Given the description of an element on the screen output the (x, y) to click on. 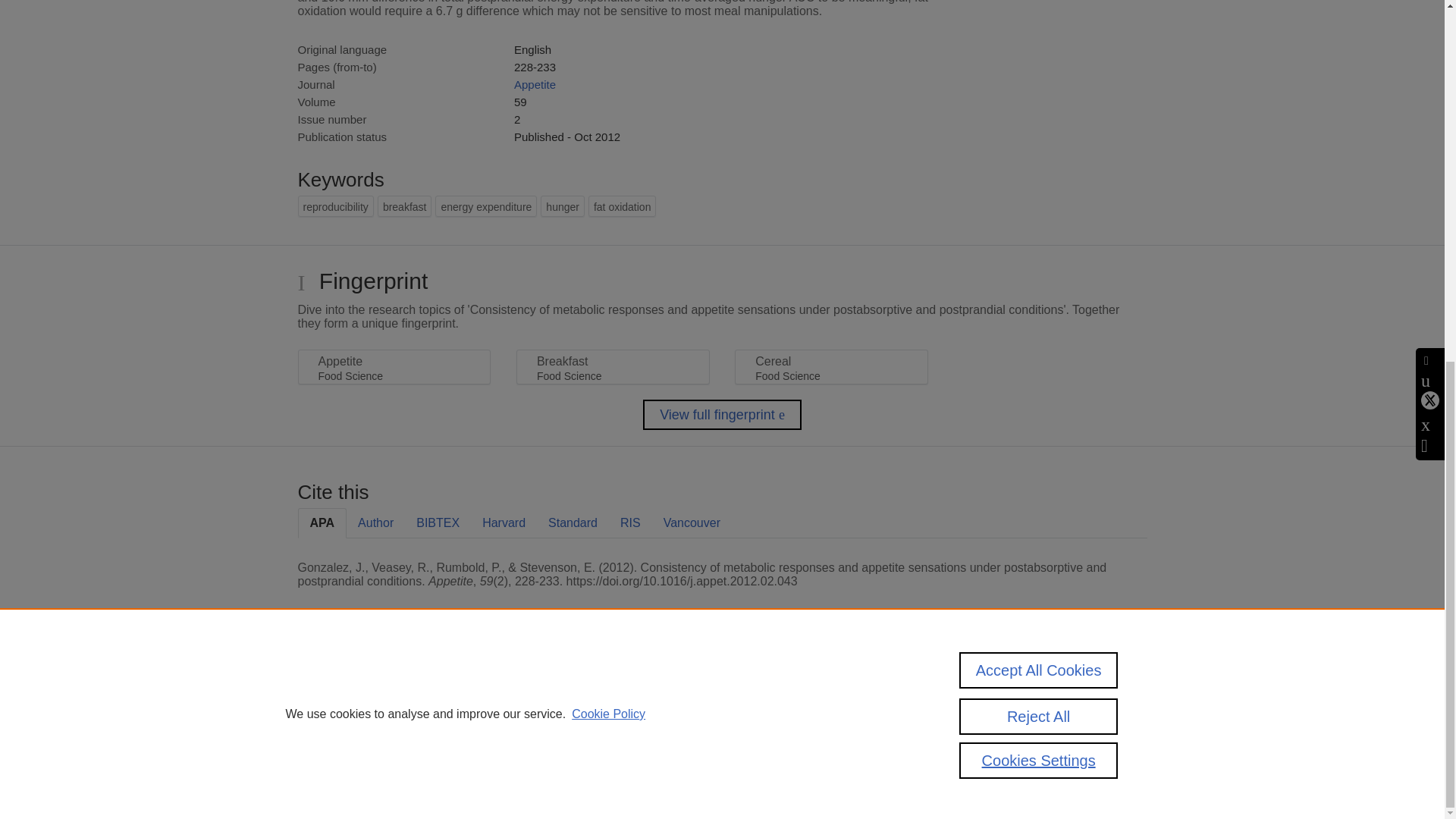
Cookies Settings (334, 760)
Scopus (394, 686)
View full fingerprint (722, 414)
Elsevier B.V. (506, 707)
use of cookies (796, 739)
Pure (362, 686)
Log in to Pure (327, 781)
Appetite (534, 83)
